Given the description of an element on the screen output the (x, y) to click on. 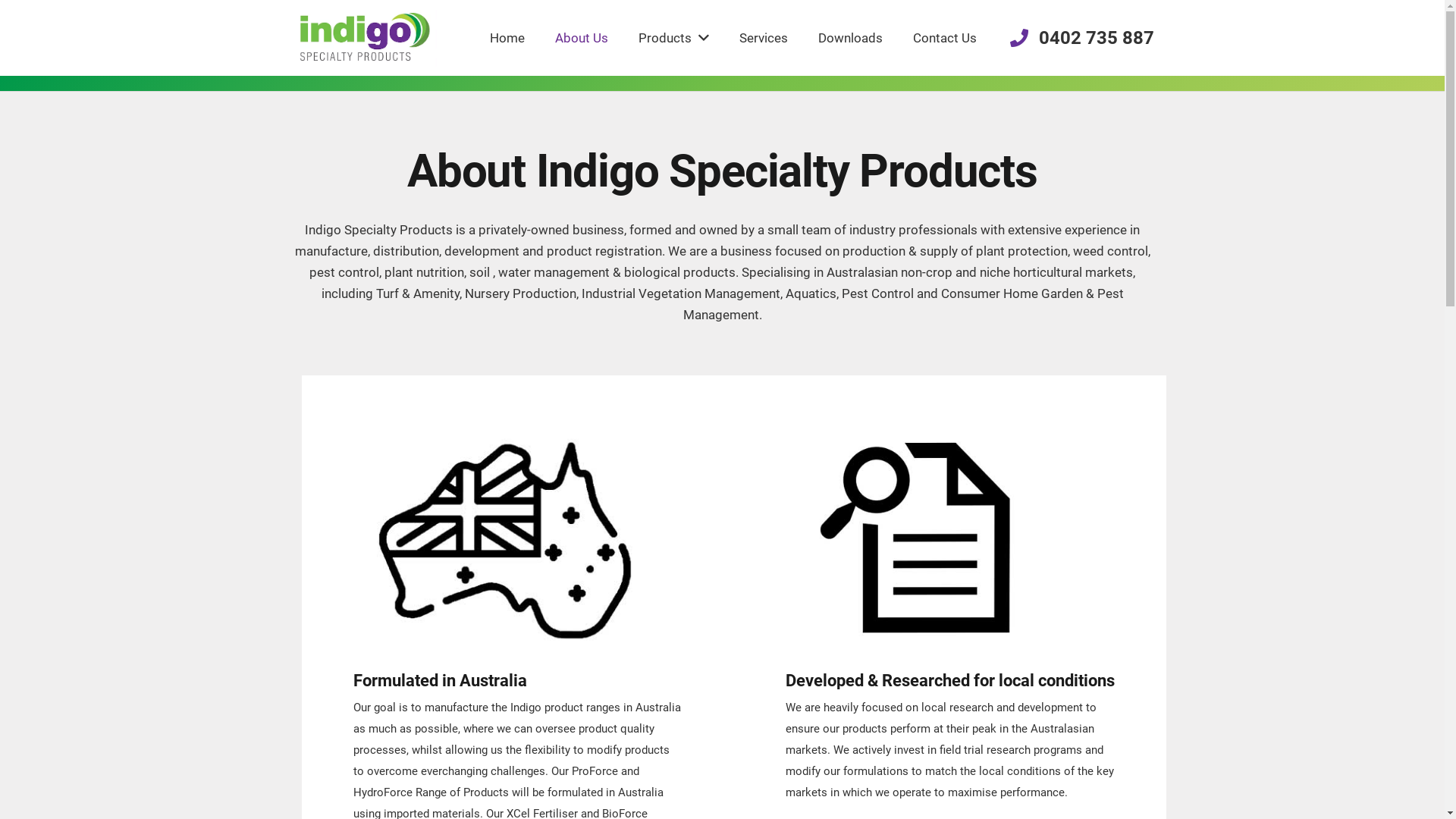
About Us Element type: text (581, 37)
0402 735 887 Element type: text (1082, 37)
Services Element type: text (763, 37)
Products Element type: text (673, 37)
Contact Us Element type: text (944, 37)
Downloads Element type: text (850, 37)
Home Element type: text (506, 37)
